Given the description of an element on the screen output the (x, y) to click on. 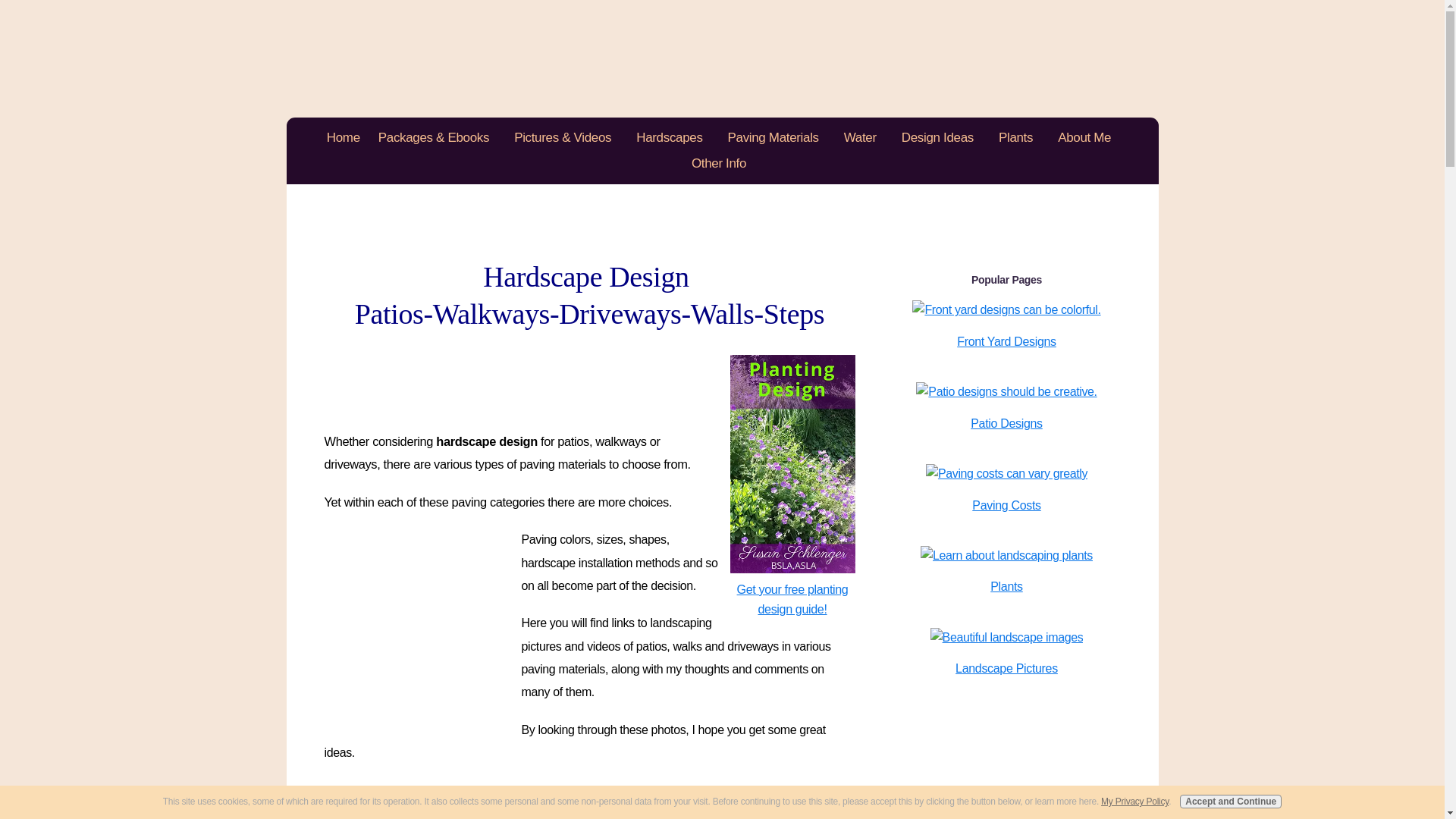
My Website (722, 58)
Go to Planting Design Guide (787, 589)
Advertisement (421, 619)
Get your free planting design guide! (787, 589)
Patio designs should be creative. (1005, 392)
Go to Patio Designs and Creative Ideas (1005, 391)
Front yard designs can be colorful. (1006, 310)
Go to Creative Front Yard Landscaping ideas (1006, 309)
Home (343, 137)
